Given the description of an element on the screen output the (x, y) to click on. 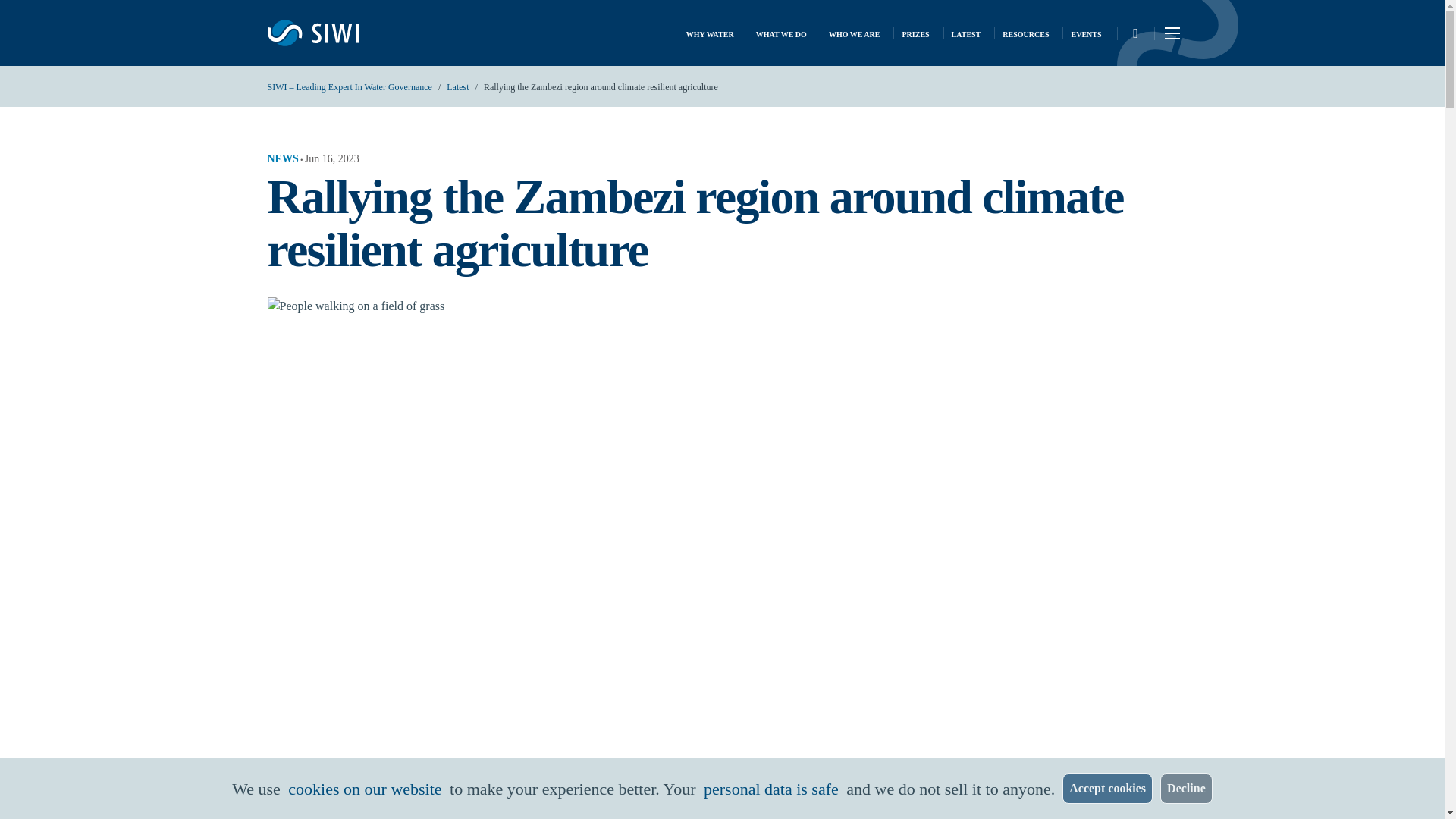
PRIZES (914, 34)
WHO WE ARE (854, 34)
Search Icon (1134, 32)
Skip to content. (25, 13)
EVENTS (1085, 34)
LATEST (966, 34)
WHAT WE DO (780, 34)
RESOURCES (1025, 34)
WHY WATER (709, 34)
